Given the description of an element on the screen output the (x, y) to click on. 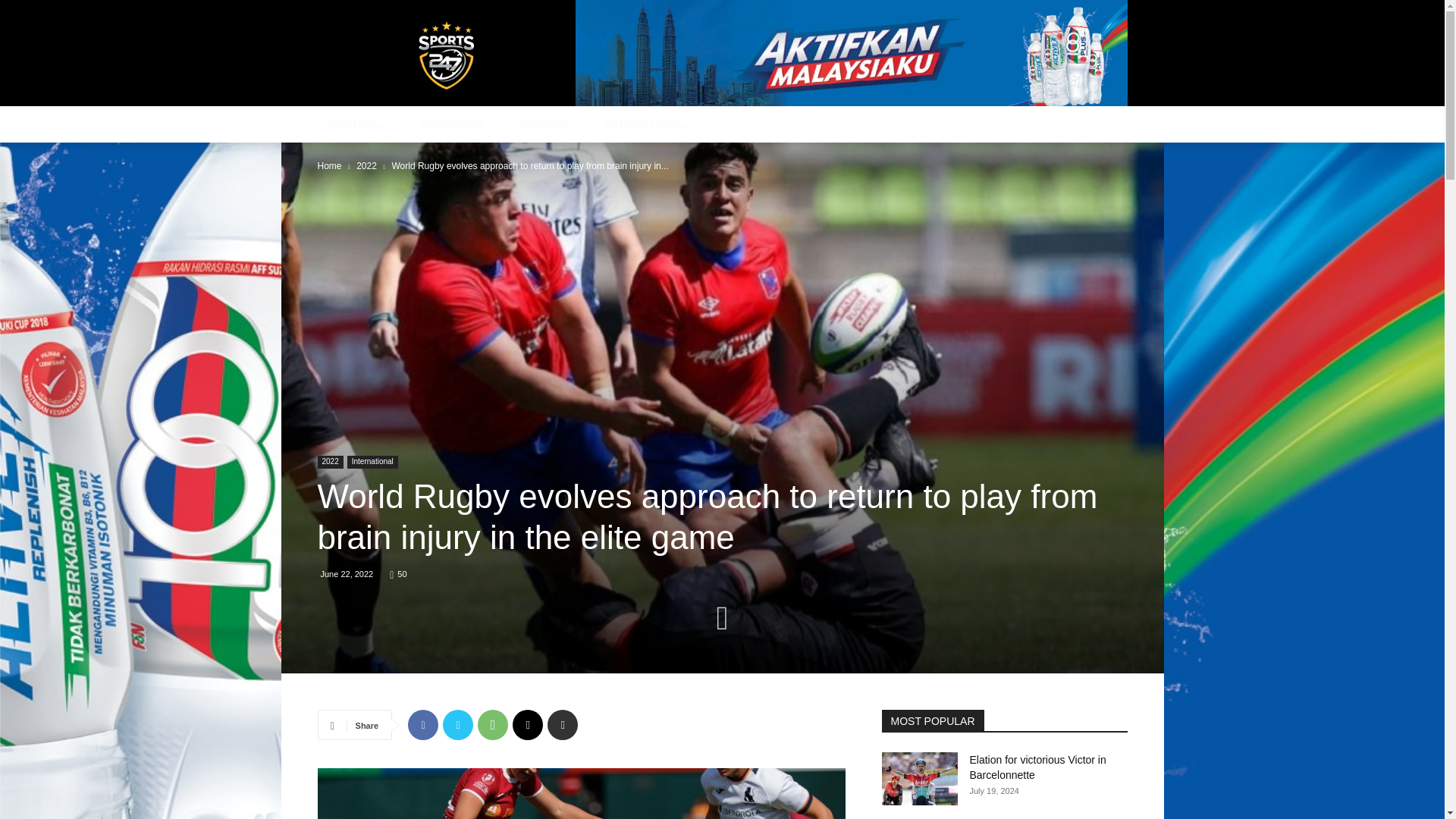
BADMINTON (458, 124)
FOOTBALL (363, 124)
